Given the description of an element on the screen output the (x, y) to click on. 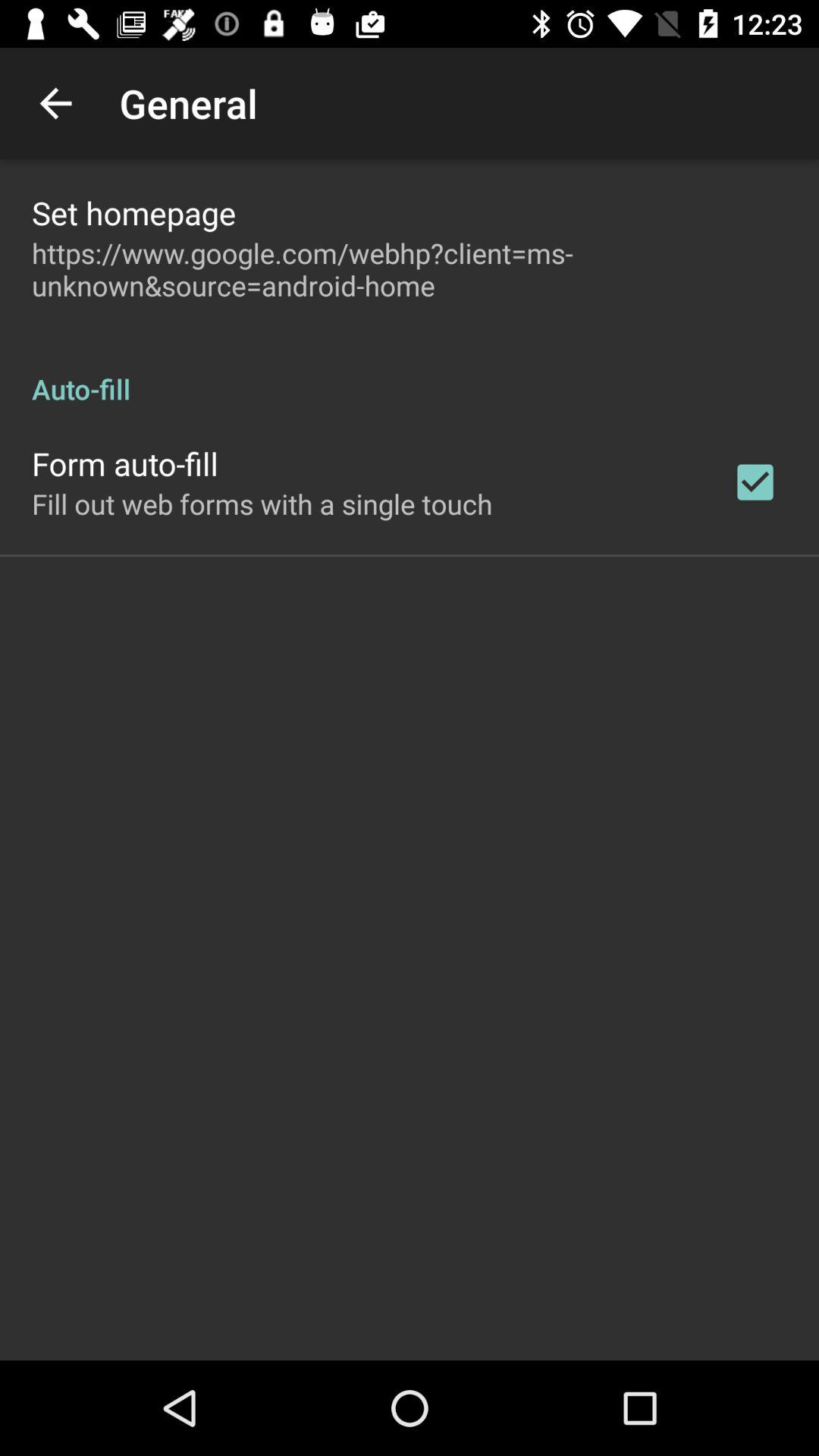
launch the app to the left of general item (55, 103)
